Given the description of an element on the screen output the (x, y) to click on. 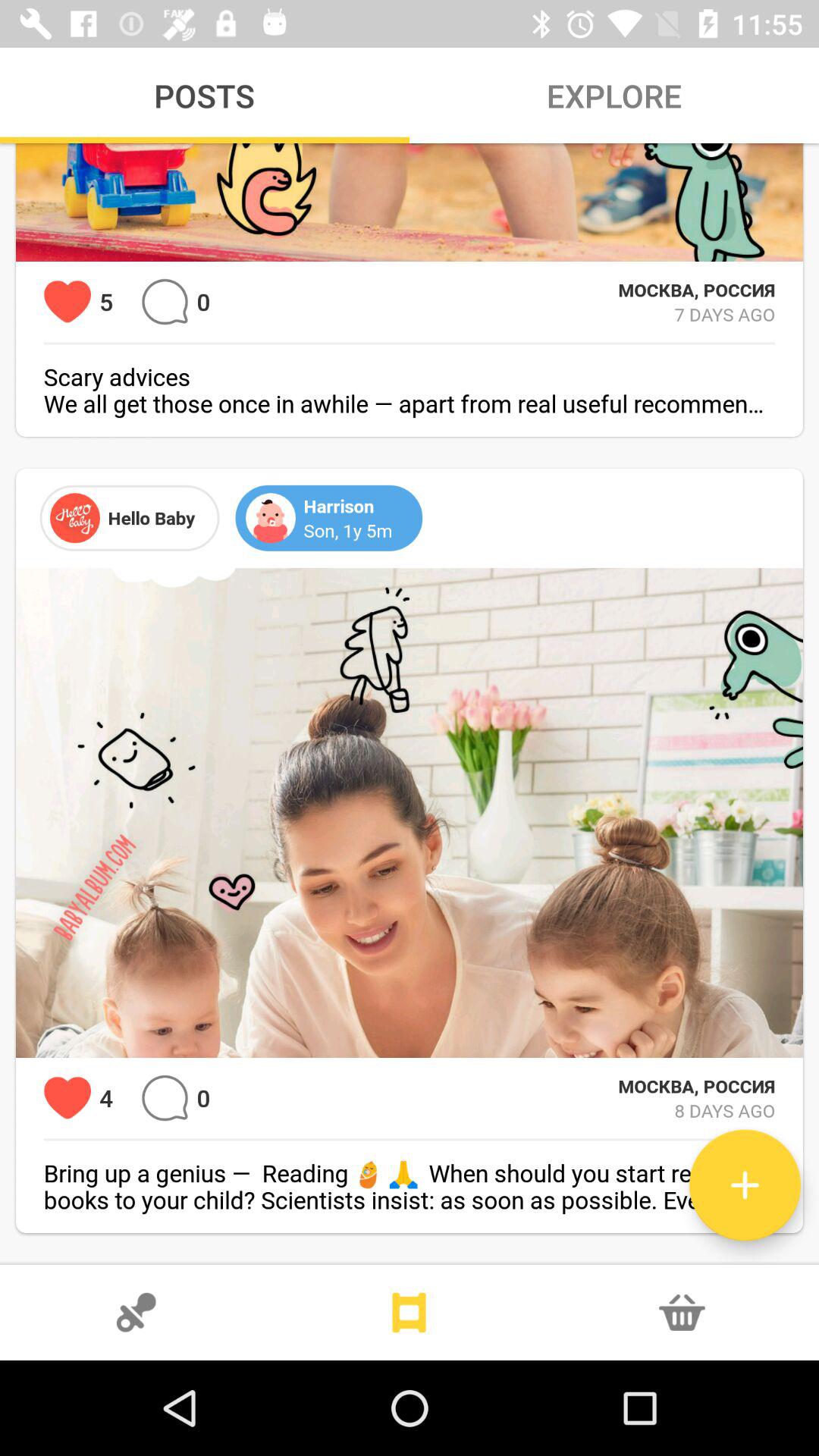
click to love (67, 301)
